Given the description of an element on the screen output the (x, y) to click on. 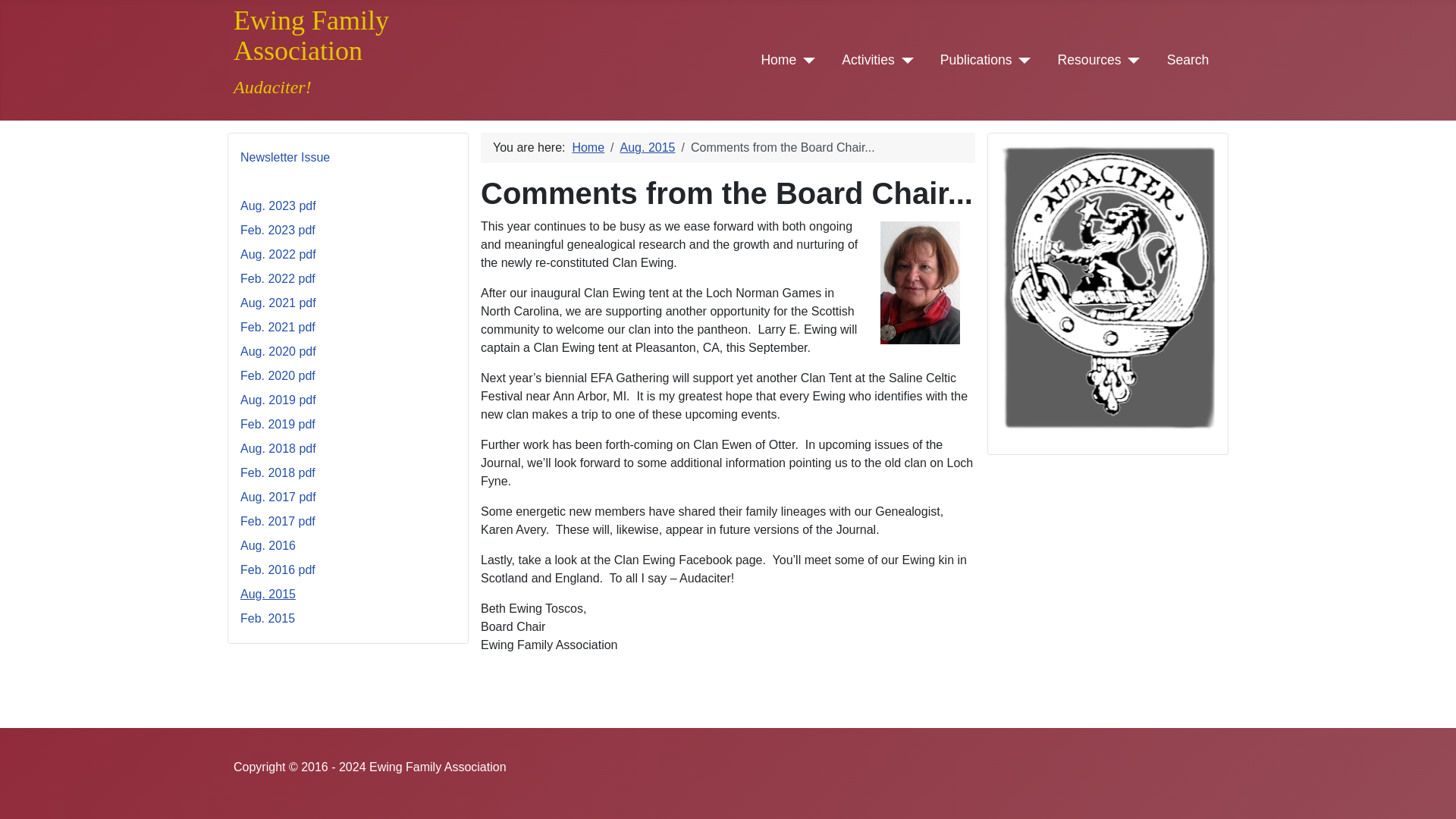
Resources (1089, 59)
Search (1188, 59)
Feb. 2023 pdf (277, 229)
Home (778, 59)
Activities (867, 59)
Aug. 2023 pdf (277, 205)
Publications (975, 59)
Newsletter Issue (285, 156)
